Given the description of an element on the screen output the (x, y) to click on. 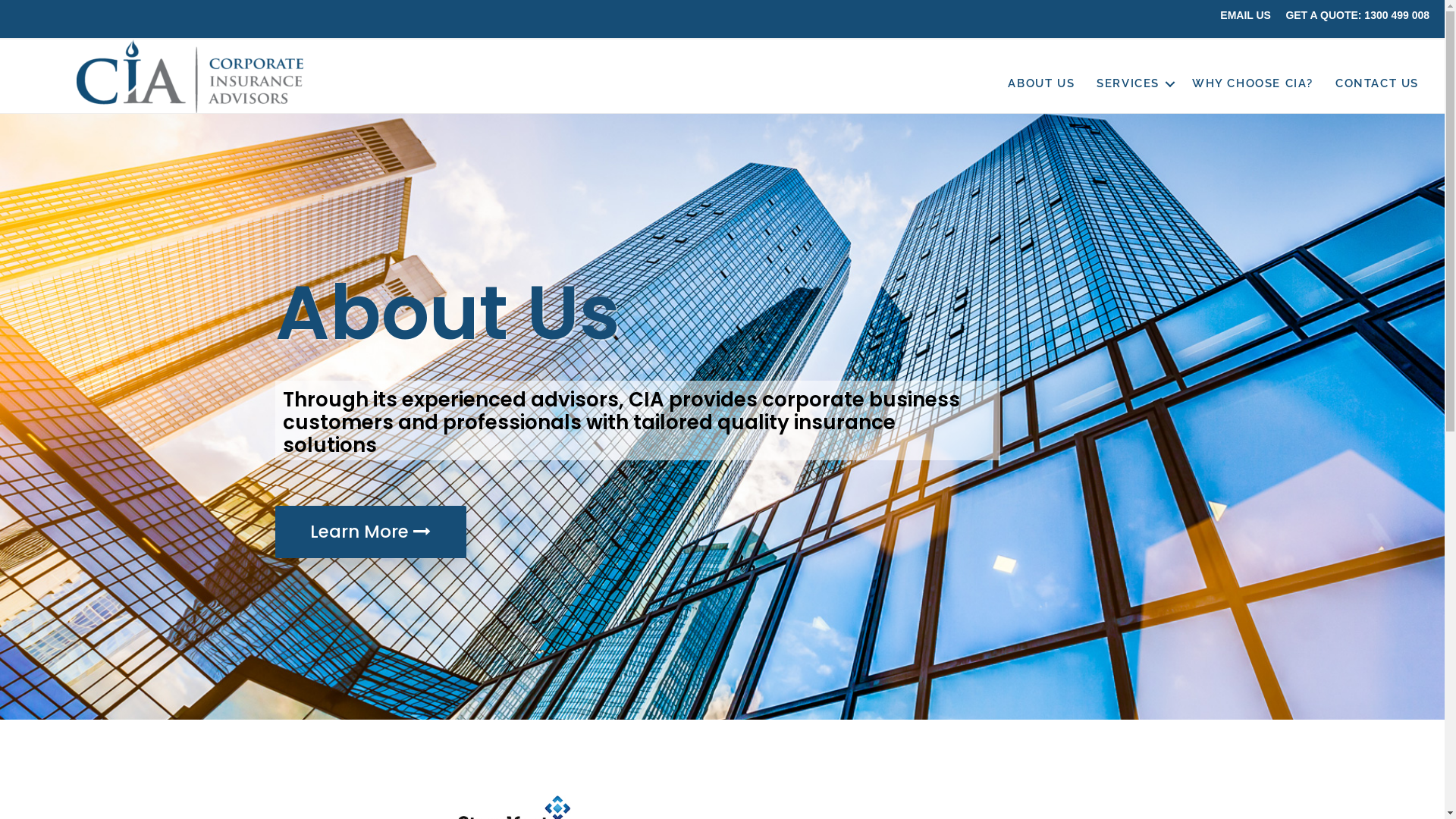
ABOUT US Element type: text (1041, 83)
SERVICES Element type: text (1132, 83)
Home Element type: text (1339, 25)
Contact Us Element type: text (1406, 25)
Skip to primary navigation Element type: text (0, 0)
corporate-insurance-advisors Element type: hover (189, 75)
GET A QUOTE: 1300 499 008 Element type: text (1357, 15)
WHY CHOOSE CIA? Element type: text (1252, 83)
EMAIL US Element type: text (1245, 15)
CONTACT US Element type: text (1376, 83)
